Given the description of an element on the screen output the (x, y) to click on. 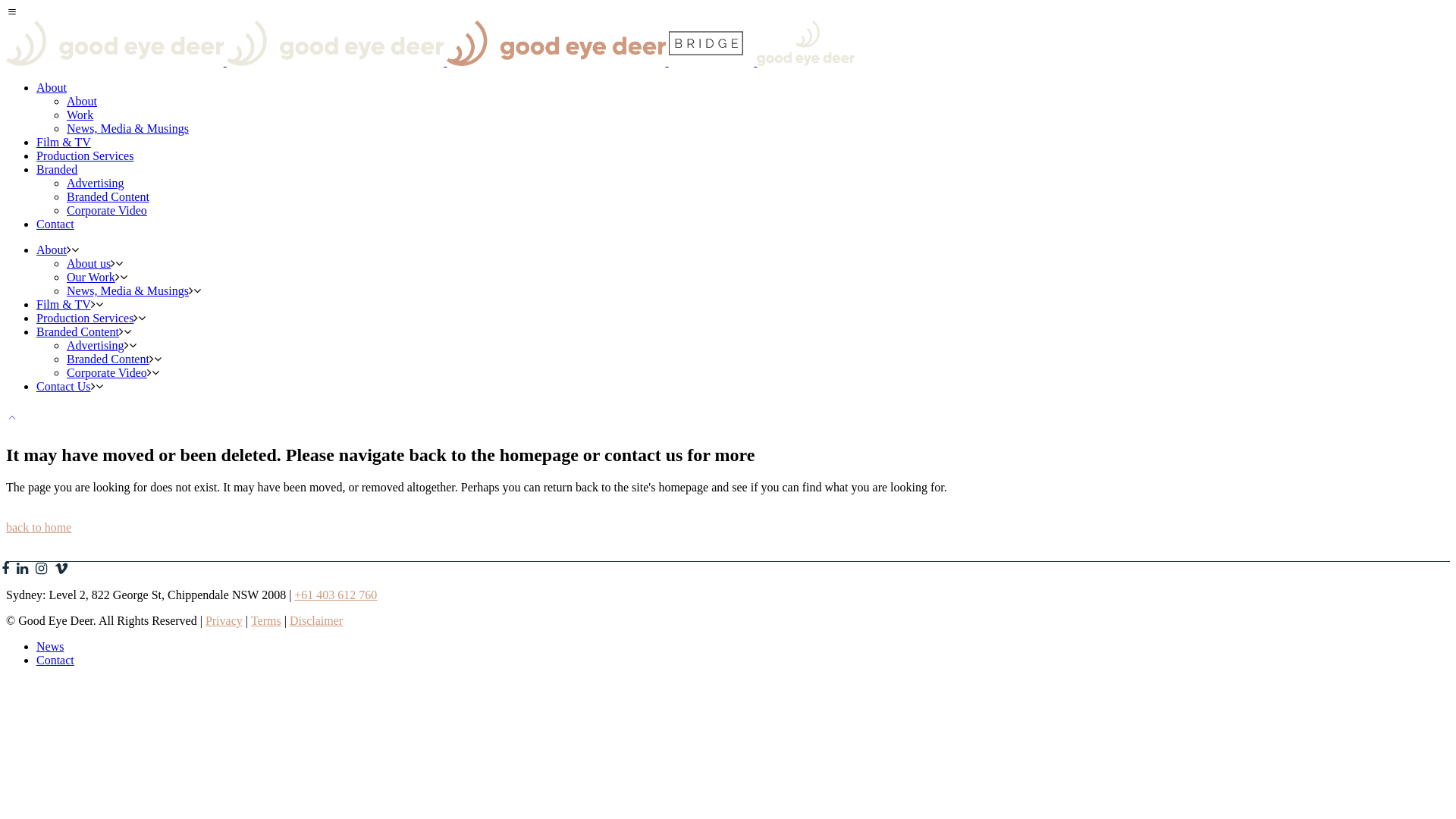
About us Element type: text (88, 263)
Advertising Element type: text (95, 344)
Branded Content Element type: text (107, 196)
Our Work Element type: text (90, 276)
Corporate Video Element type: text (106, 372)
Contact Element type: text (55, 223)
About Element type: text (51, 249)
Advertising Element type: text (95, 182)
Corporate Video Element type: text (106, 209)
Production Services Element type: text (84, 317)
Disclaimer Element type: text (315, 620)
News, Media & Musings Element type: text (127, 128)
Production Services Element type: text (84, 155)
Work Element type: text (79, 114)
Privacy Element type: text (223, 620)
back to home Element type: text (38, 526)
About Element type: text (81, 100)
Branded Content Element type: text (77, 331)
News, Media & Musings Element type: text (127, 290)
Contact Element type: text (55, 659)
About Element type: text (51, 87)
Contact Us Element type: text (63, 385)
News Element type: text (49, 646)
Branded Content Element type: text (107, 358)
+61 403 612 760 Element type: text (335, 594)
Branded Element type: text (56, 169)
Terms Element type: text (266, 620)
Film & TV Element type: text (63, 141)
Film & TV Element type: text (63, 304)
